Given the description of an element on the screen output the (x, y) to click on. 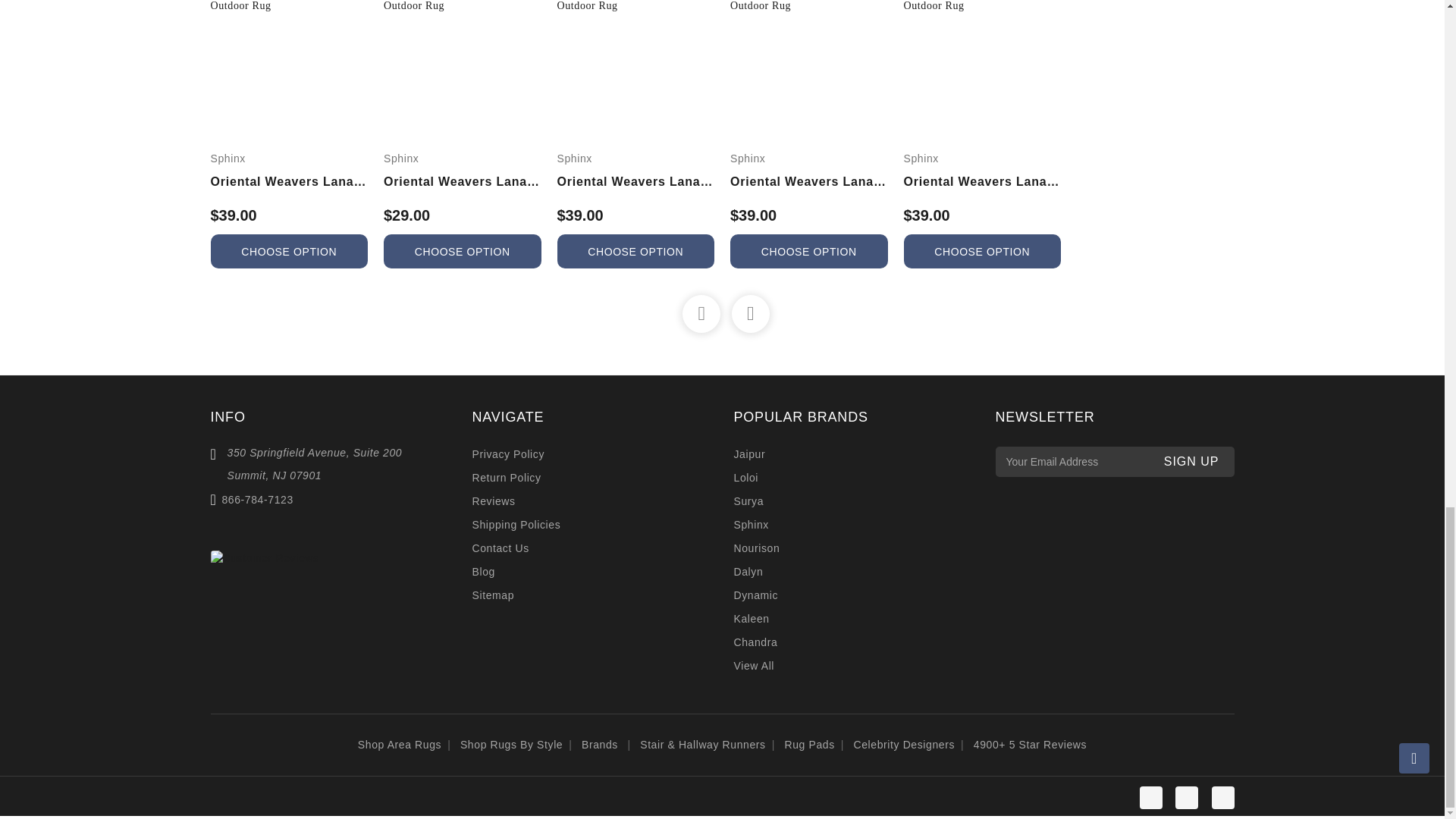
Oriental Weavers Lanai 525d Outdoor Rug (462, 6)
Oriental Weavers Lanai 606m Outdoor Rug (289, 6)
Facebook (1186, 797)
Oriental Weavers Lanai 606d Outdoor Rug (982, 6)
Choose Options (289, 251)
Sign up (1191, 461)
Choose Options (462, 251)
Choose Options (982, 251)
Oriental Weavers Lanai 525o Outdoor Rug (635, 6)
Instagram (1150, 797)
